Given the description of an element on the screen output the (x, y) to click on. 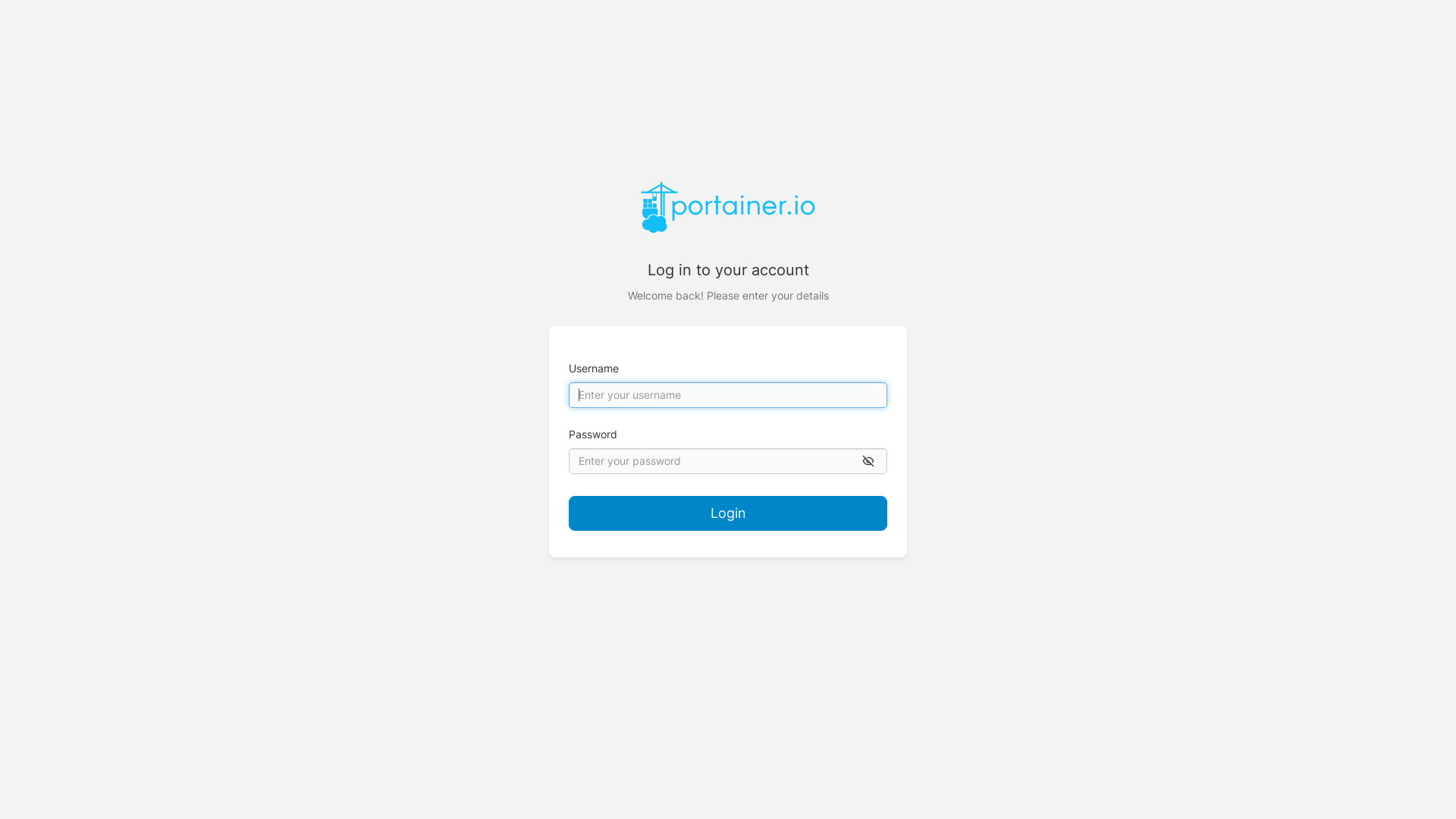
Login Element type: text (727, 512)
